Given the description of an element on the screen output the (x, y) to click on. 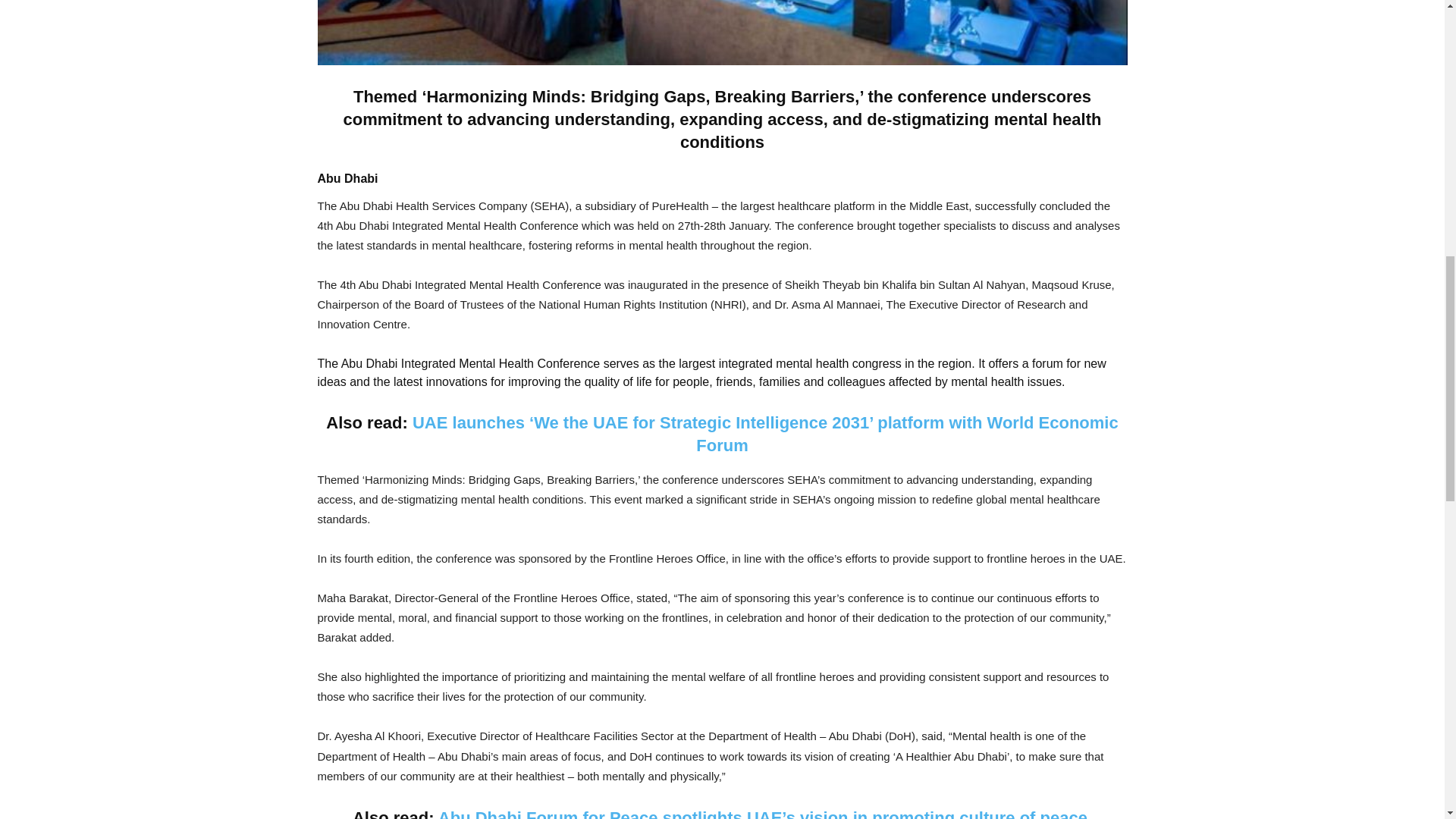
4th Abu Dhabi Integrated Mental Health Conference concludes (721, 32)
